Given the description of an element on the screen output the (x, y) to click on. 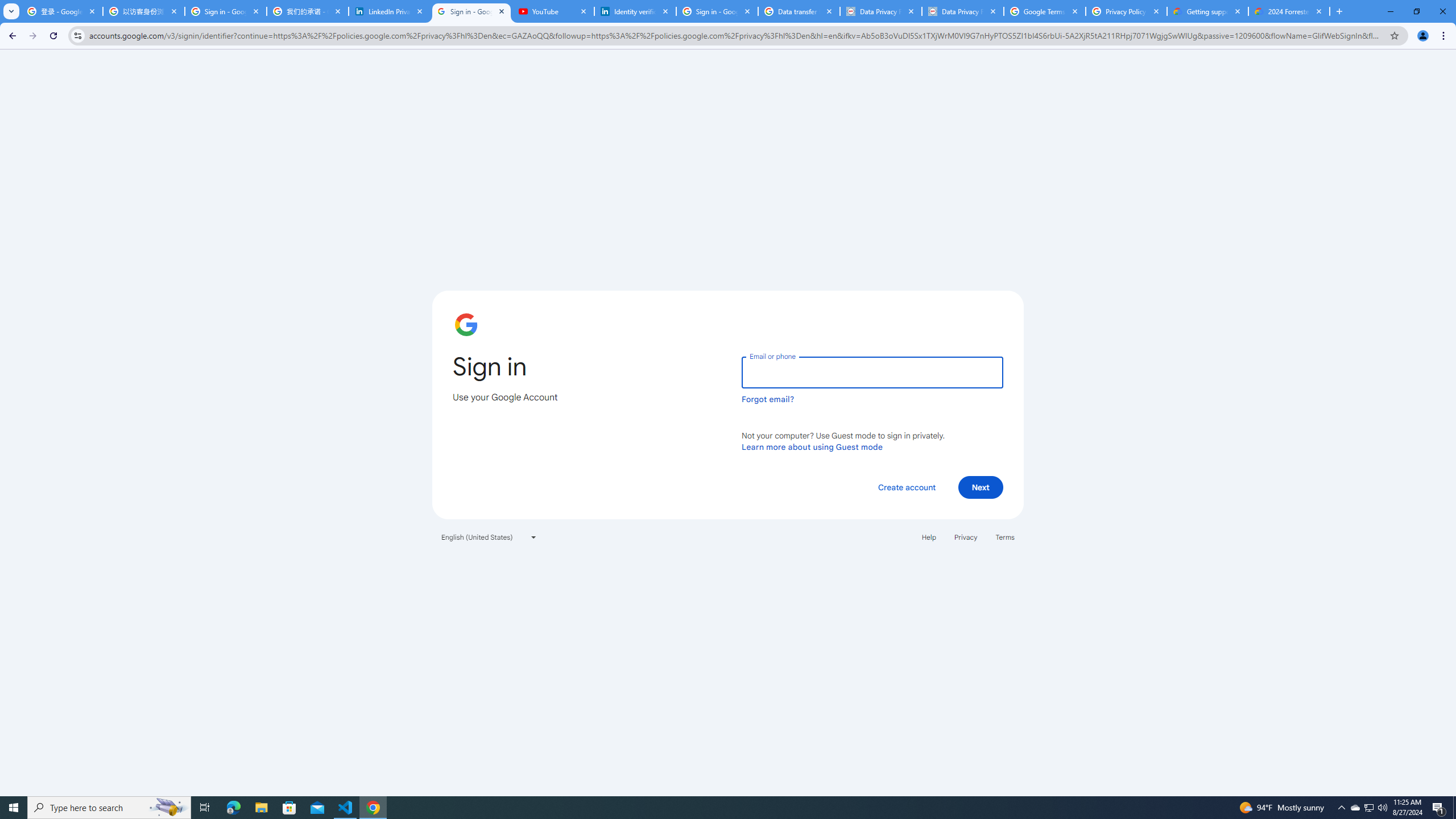
Terms (1005, 536)
Learn more about using Guest mode (812, 446)
Forgot email? (767, 398)
Help (928, 536)
LinkedIn Privacy Policy (389, 11)
Sign in - Google Accounts (716, 11)
